Given the description of an element on the screen output the (x, y) to click on. 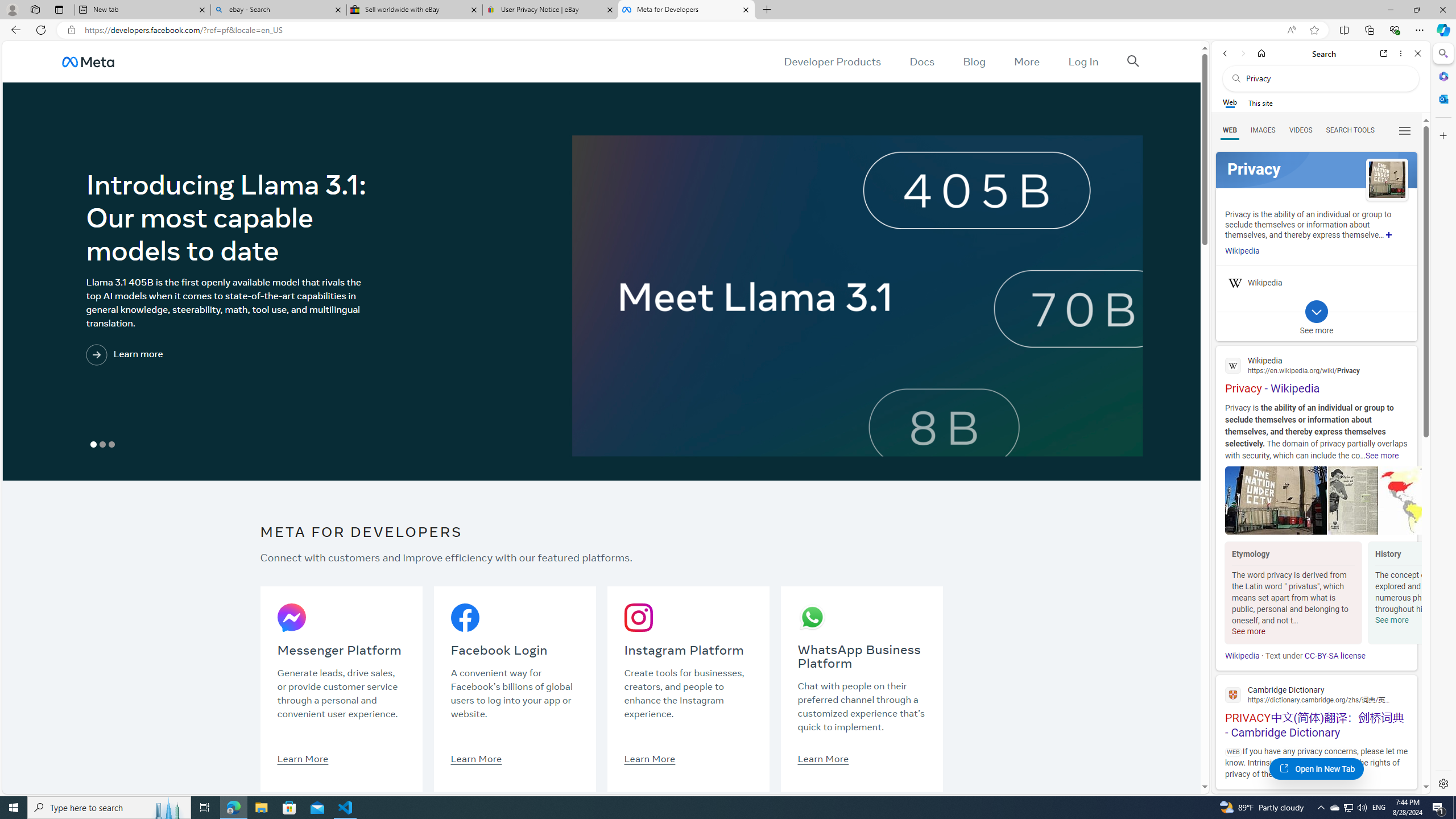
Click to scroll right (1407, 594)
Outlook (1442, 98)
See more images of Privacy (1386, 180)
Customize (1442, 135)
Developer Products (832, 61)
Search Filter, Search Tools (1350, 129)
Learn more (171, 355)
Forward (1242, 53)
